Given the description of an element on the screen output the (x, y) to click on. 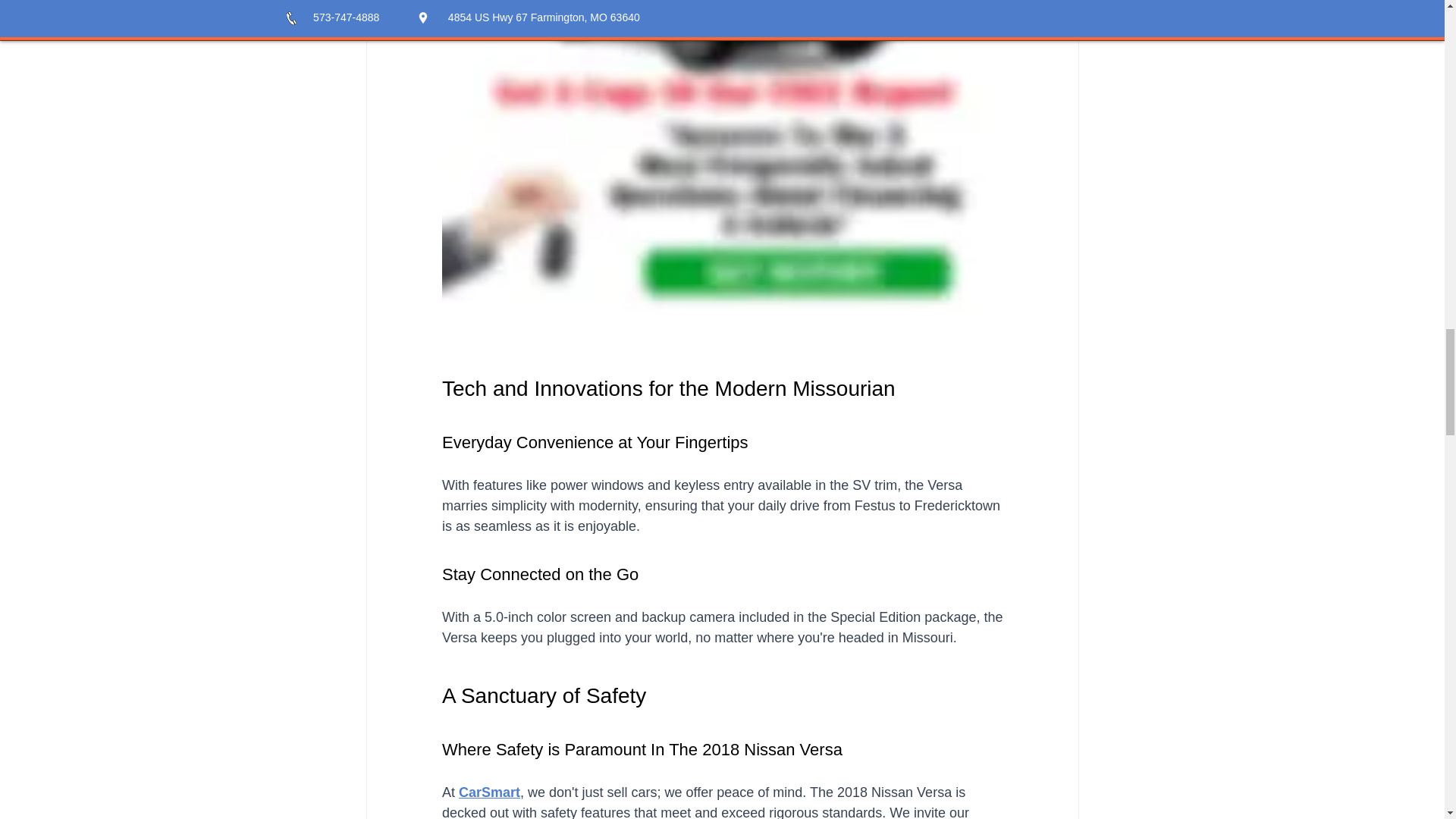
CarSmart (488, 792)
